Given the description of an element on the screen output the (x, y) to click on. 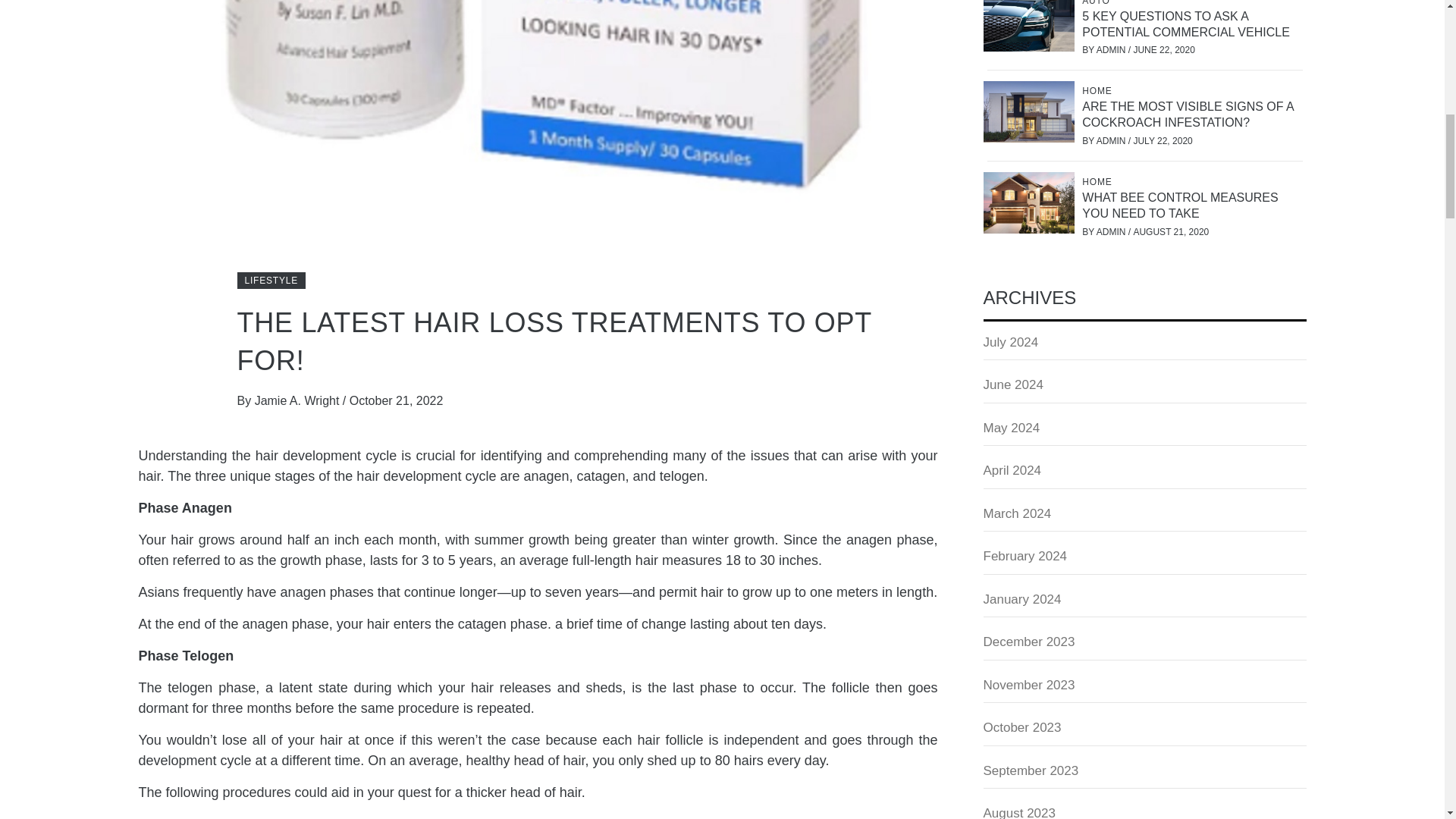
LIFESTYLE (270, 280)
Jamie A. Wright (298, 400)
